Given the description of an element on the screen output the (x, y) to click on. 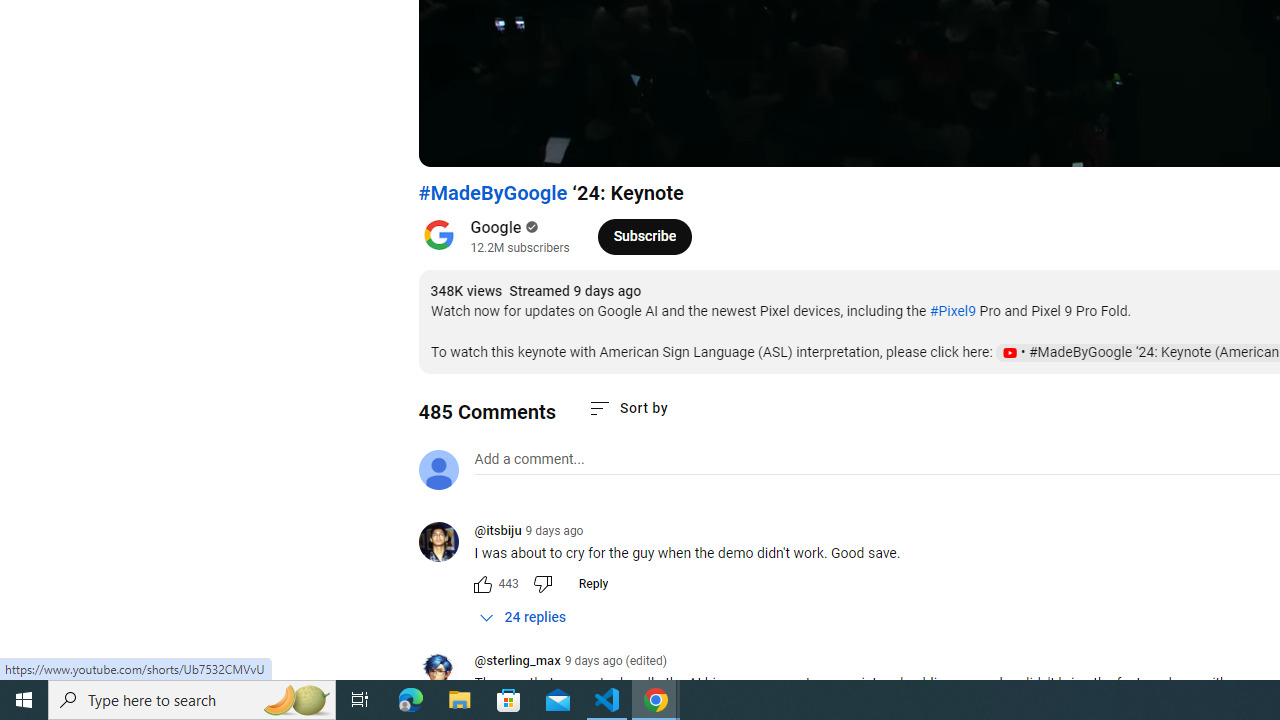
#Pixel9 (952, 311)
Default profile photo (438, 470)
Google (496, 227)
Like this comment along with 443 other people (482, 583)
@itsbiju (446, 543)
MadeByGoogle '24: Intro (749, 142)
Reply (592, 583)
@itsbiju (497, 532)
9 days ago (553, 531)
Sort comments (627, 408)
Next (SHIFT+n) (500, 142)
Subscribe to Google. (644, 236)
@sterling_max (516, 661)
